Given the description of an element on the screen output the (x, y) to click on. 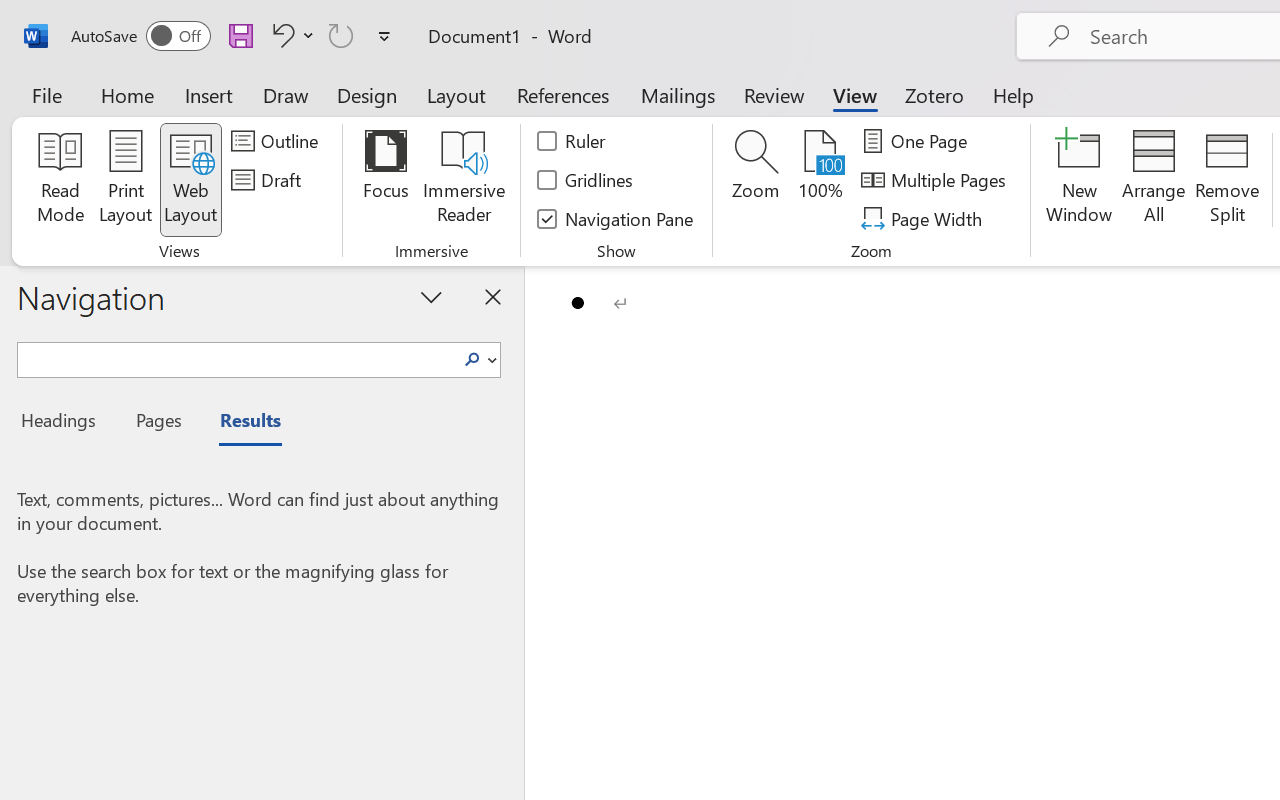
Immersive Reader (464, 179)
Undo Bullet Default (280, 35)
One Page (917, 141)
Zoom... (755, 179)
Undo Bullet Default (290, 35)
